Given the description of an element on the screen output the (x, y) to click on. 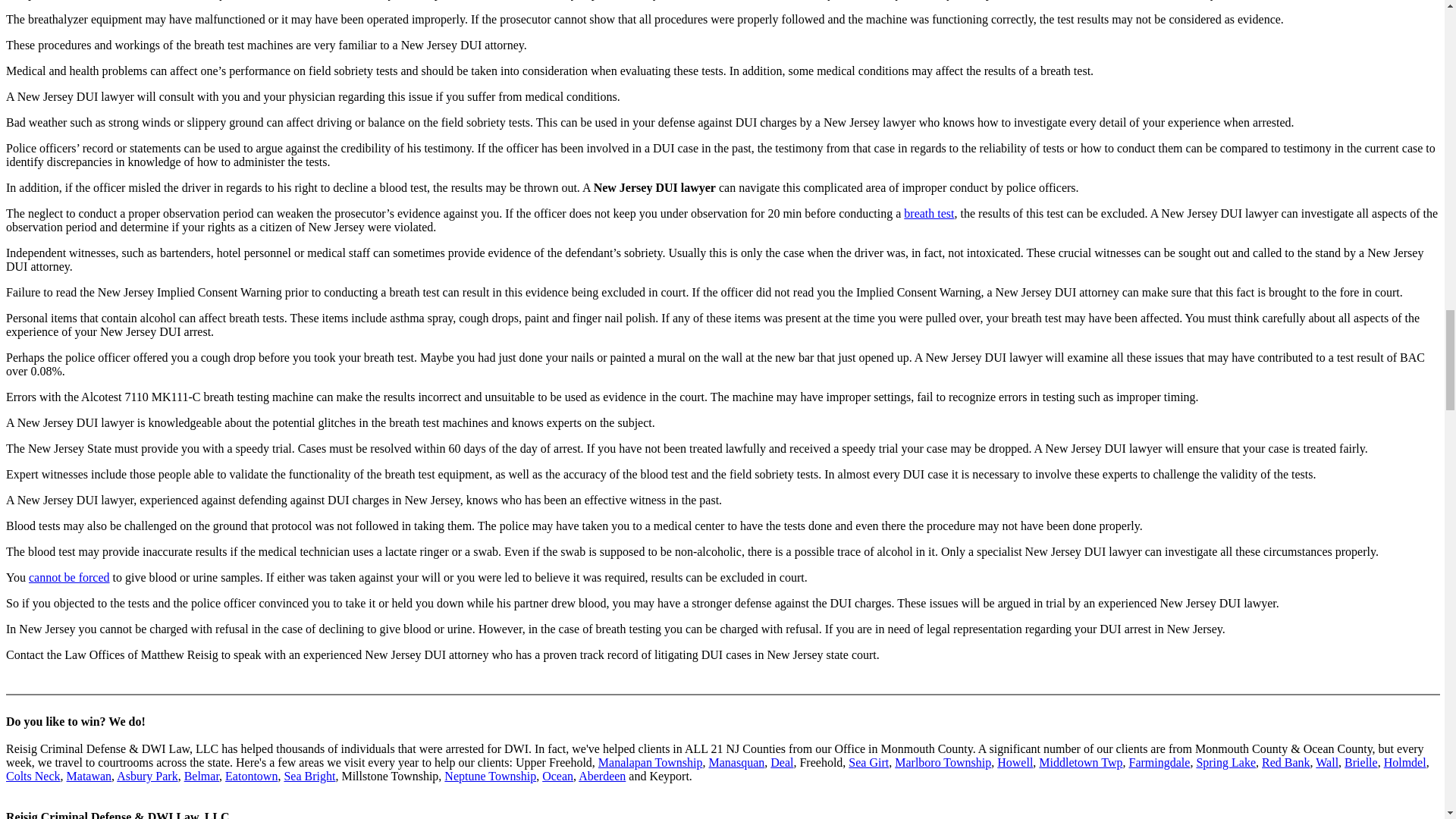
Read more about BAC test refusal (69, 576)
breath test (928, 213)
Read about the reliability of breath tests (928, 213)
